Given the description of an element on the screen output the (x, y) to click on. 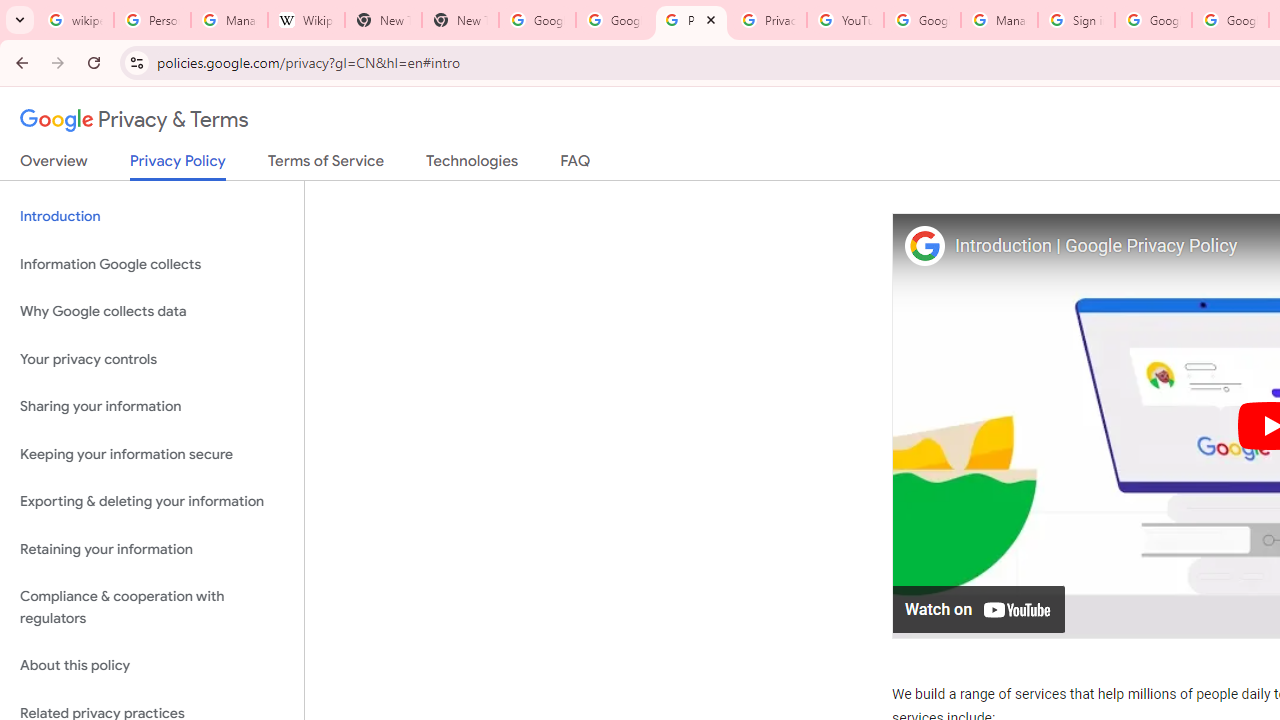
Exporting & deleting your information (152, 502)
New Tab (383, 20)
Your privacy controls (152, 358)
About this policy (152, 666)
Watch on YouTube (979, 608)
Wikipedia:Edit requests - Wikipedia (306, 20)
